Given the description of an element on the screen output the (x, y) to click on. 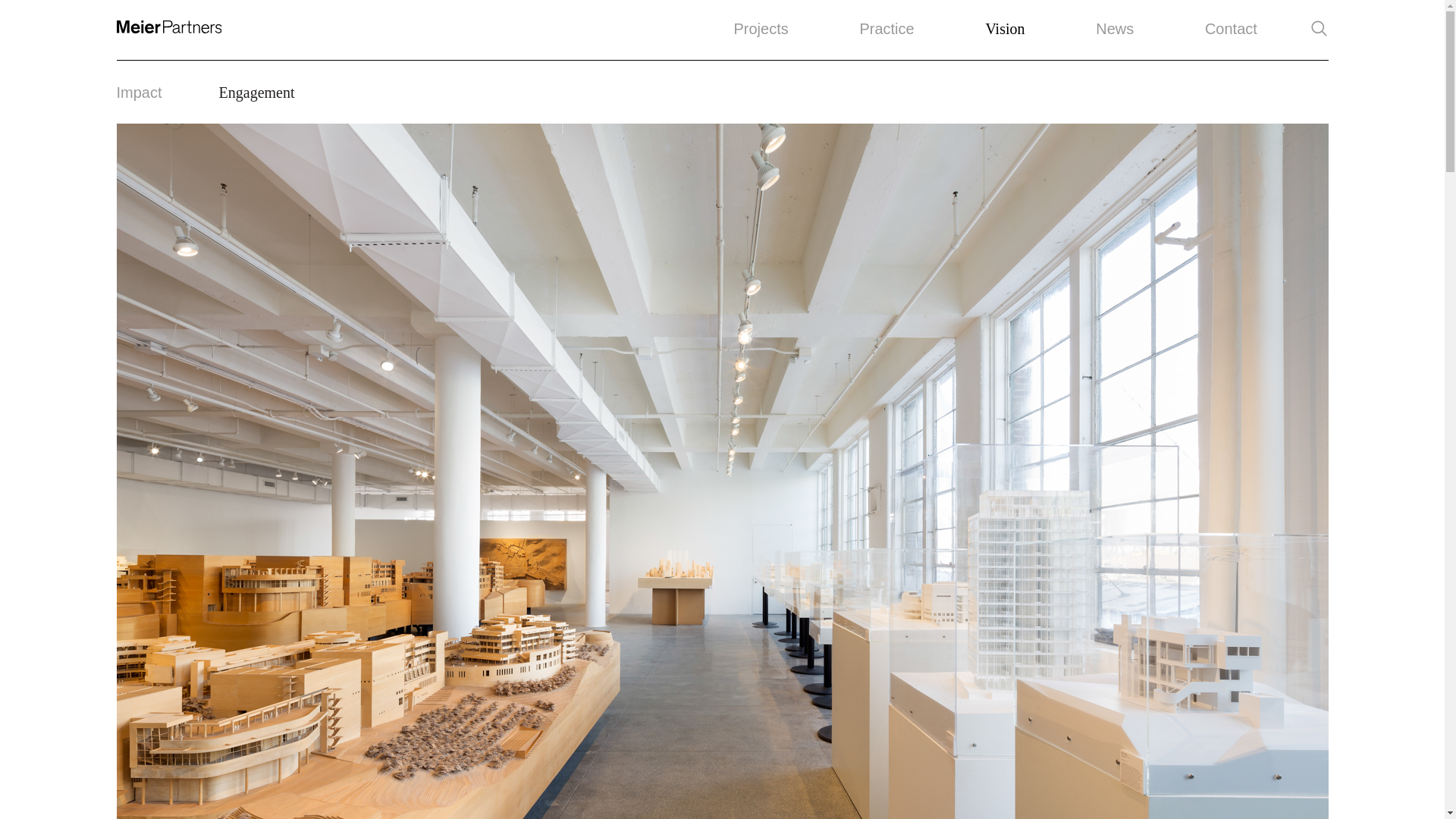
Vision (1005, 28)
Contact (1231, 28)
Vision (1005, 28)
Impact (138, 91)
Projects (761, 28)
Projects (761, 28)
Practice (886, 28)
News (1115, 28)
Practice (886, 28)
News (1115, 28)
Contact (1231, 28)
